Given the description of an element on the screen output the (x, y) to click on. 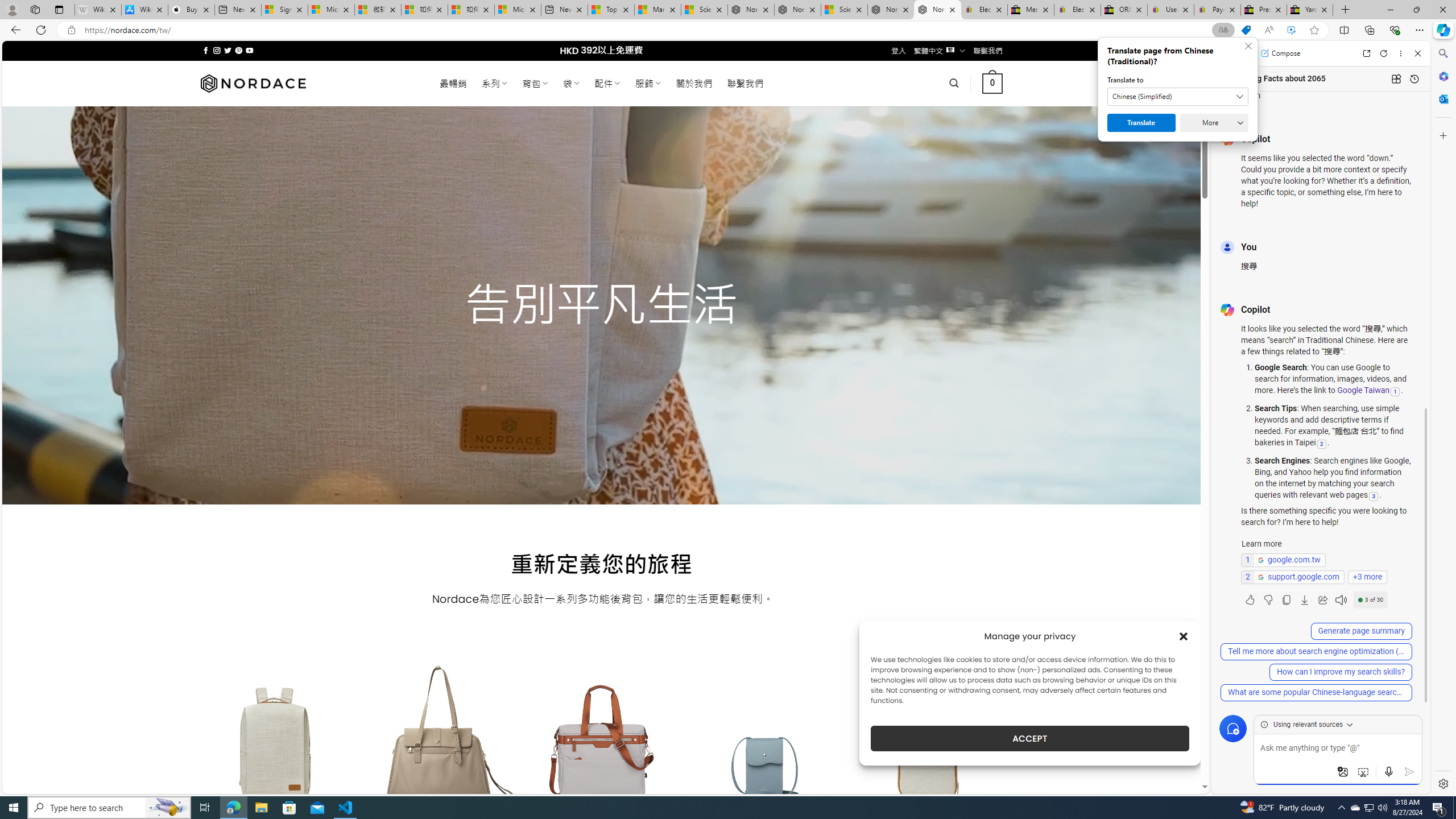
Follow on YouTube (249, 50)
Compose (1280, 52)
Buy iPad - Apple (191, 9)
Wikipedia - Sleeping (97, 9)
